Given the description of an element on the screen output the (x, y) to click on. 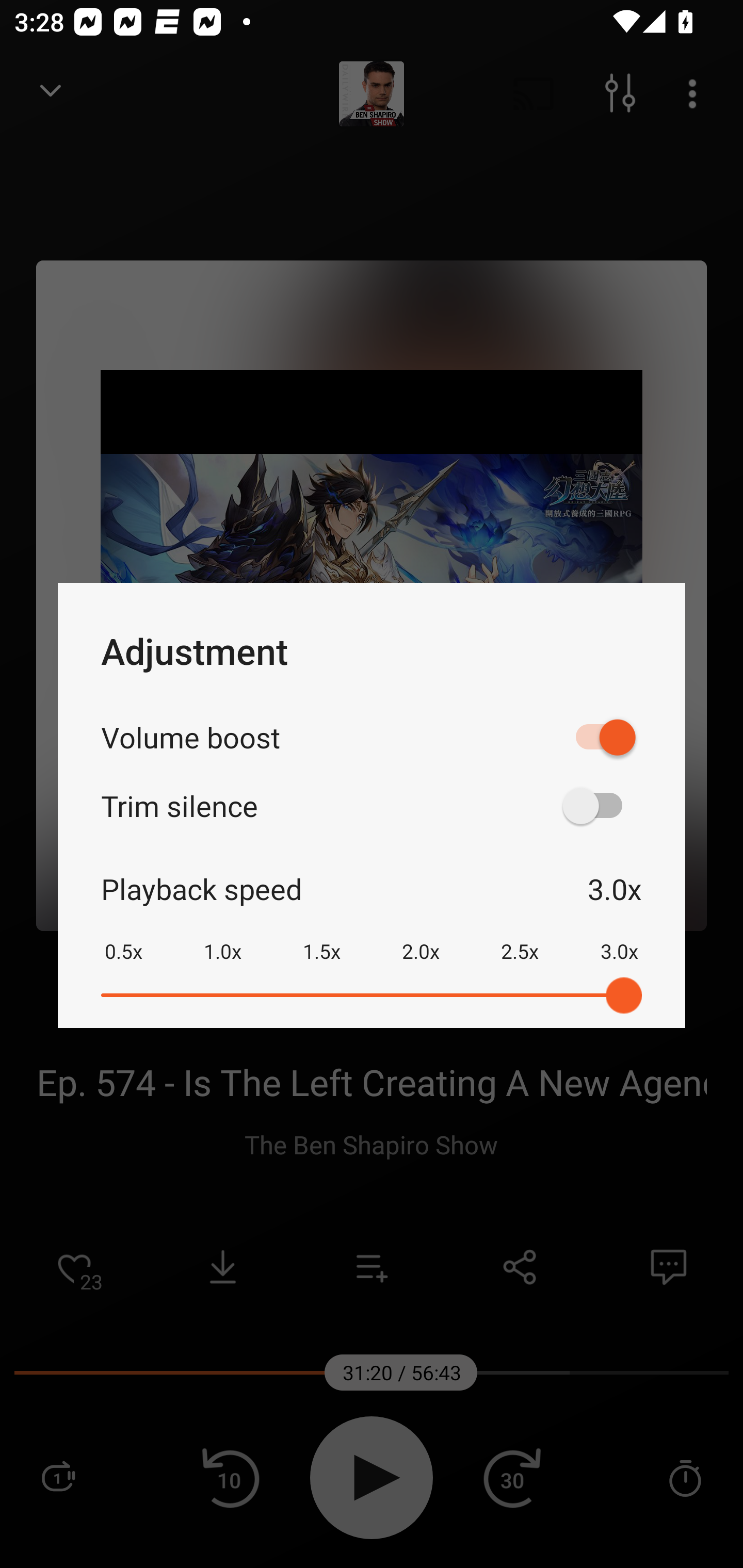
0.5x (123, 937)
1.0x (222, 937)
1.5x (321, 937)
2.0x (420, 937)
2.5x (519, 937)
3.0x (618, 937)
